Given the description of an element on the screen output the (x, y) to click on. 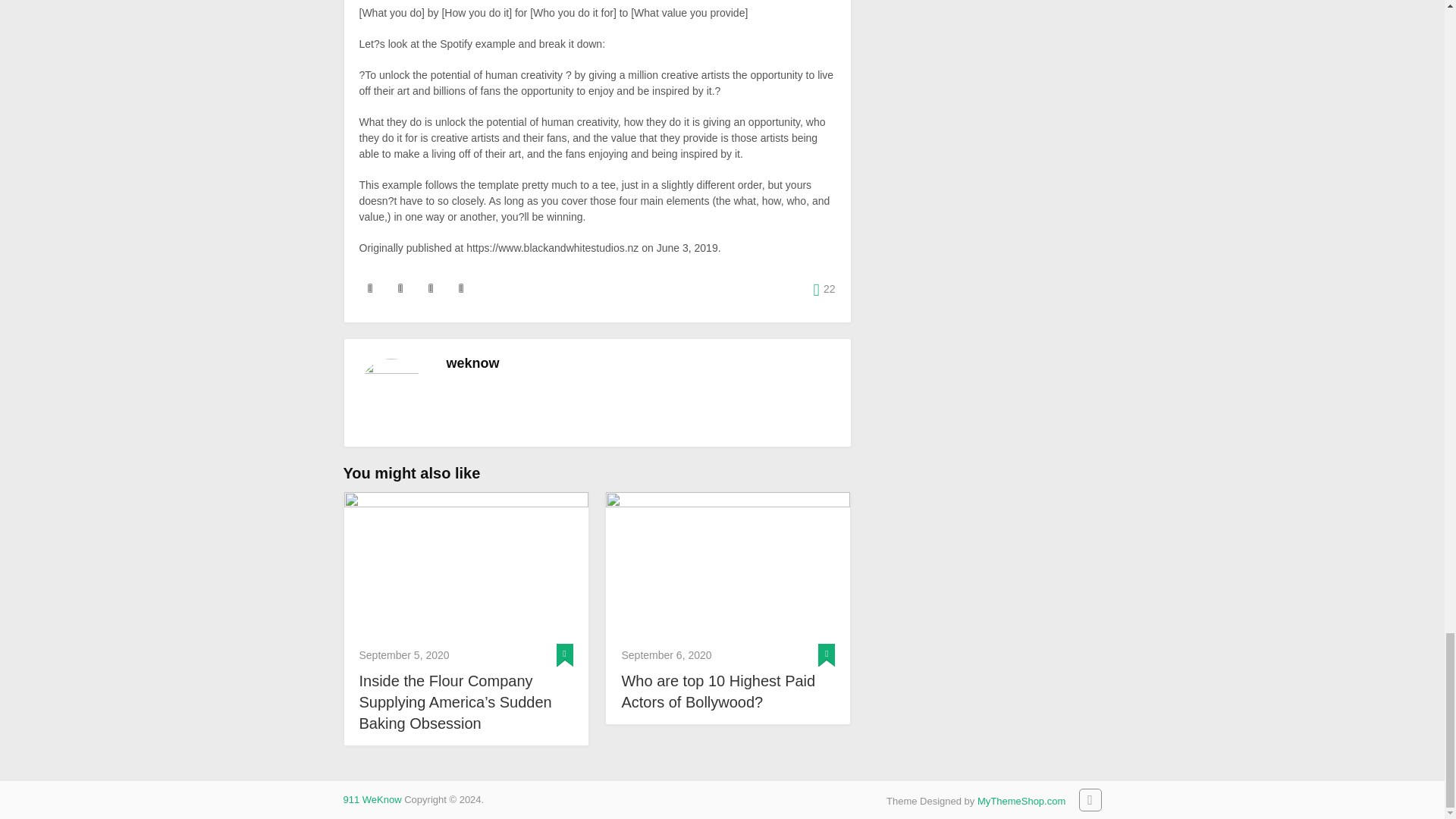
weknow (472, 363)
 911weknow.com (371, 799)
Who are top 10 Highest Paid Actors of Bollywood? (727, 691)
911 WeKnow (371, 799)
MyThemeShop.com (1020, 800)
Who are top 10 Highest Paid Actors of Bollywood? (727, 564)
Who are top 10 Highest Paid Actors of Bollywood? (727, 691)
